Given the description of an element on the screen output the (x, y) to click on. 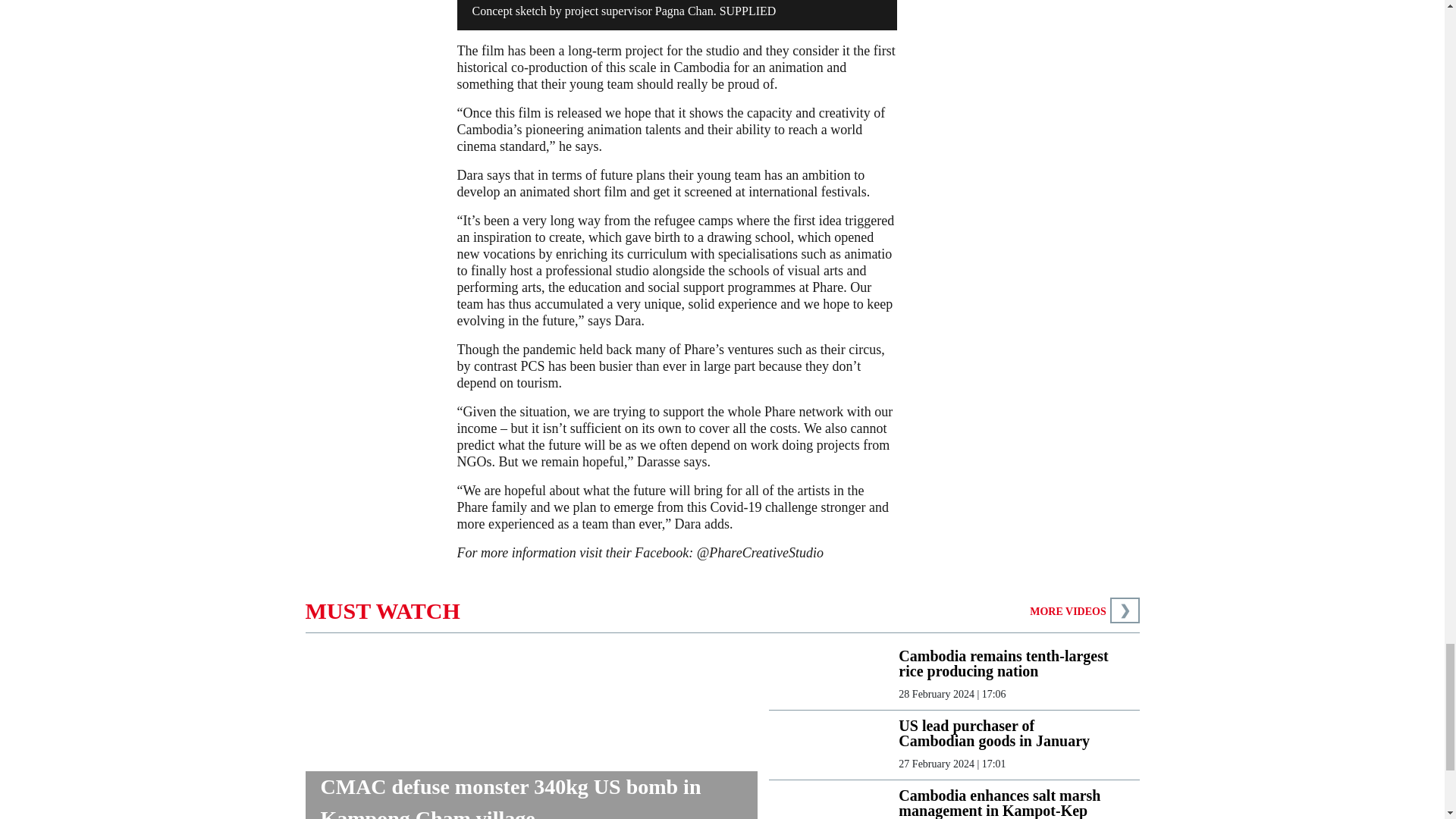
MORE VIDEOS (1067, 611)
Cambodia remains tenth-largest rice producing nation (1005, 663)
CMAC defuse monster 340kg US bomb in Kampong Cham village (530, 795)
